Given the description of an element on the screen output the (x, y) to click on. 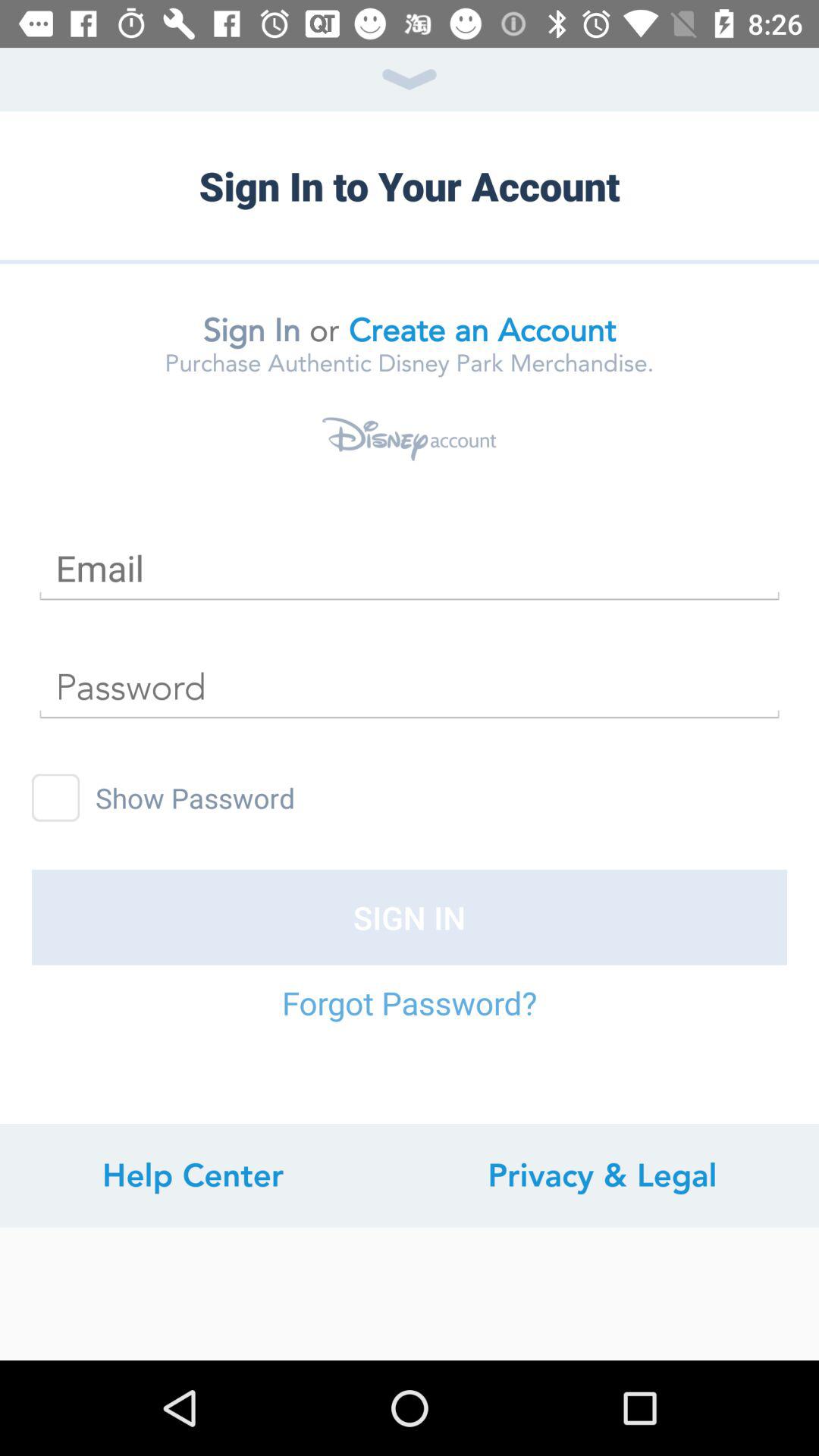
toggle email (409, 568)
